Given the description of an element on the screen output the (x, y) to click on. 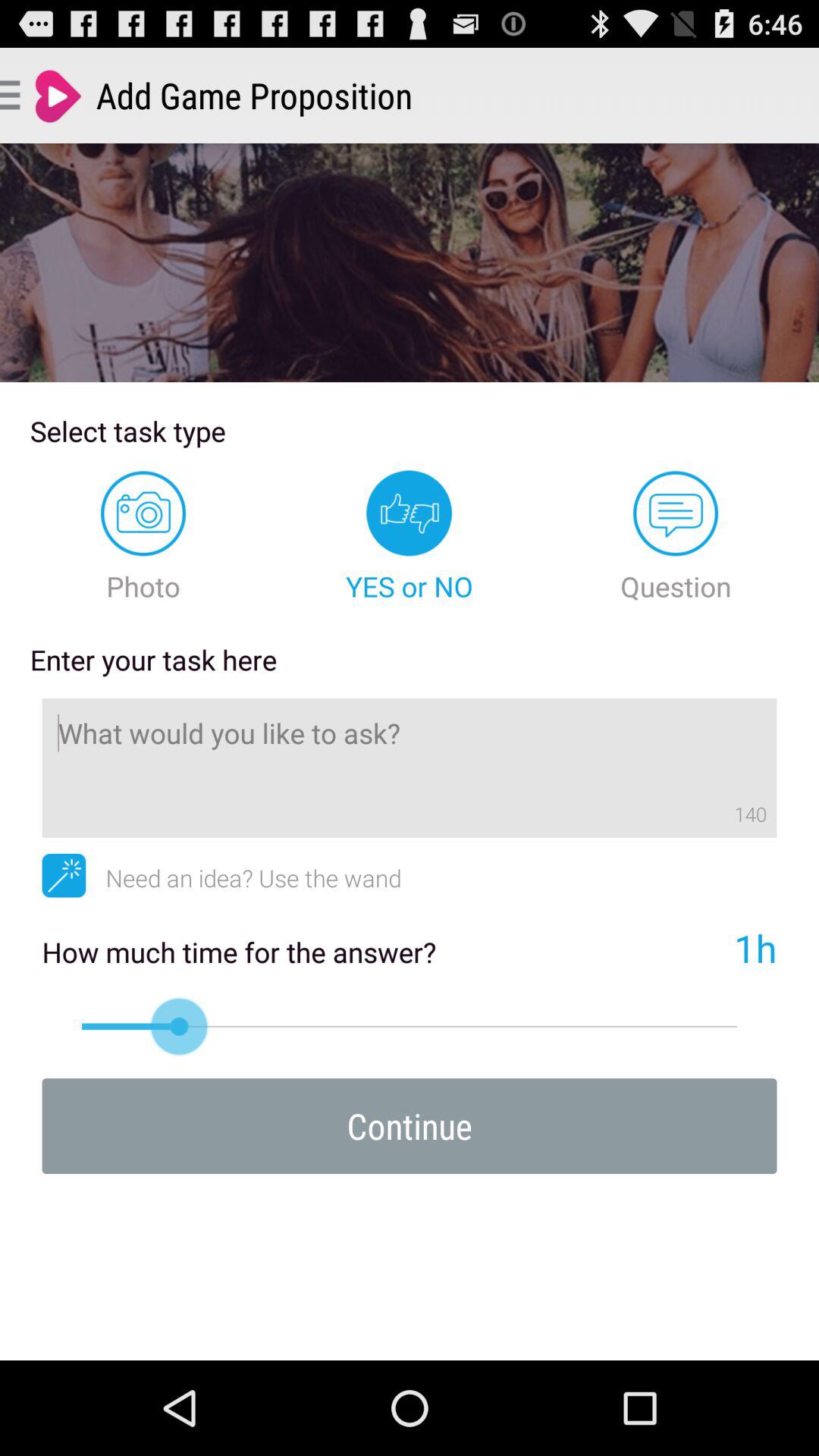
tap icon next to the photo item (409, 537)
